Given the description of an element on the screen output the (x, y) to click on. 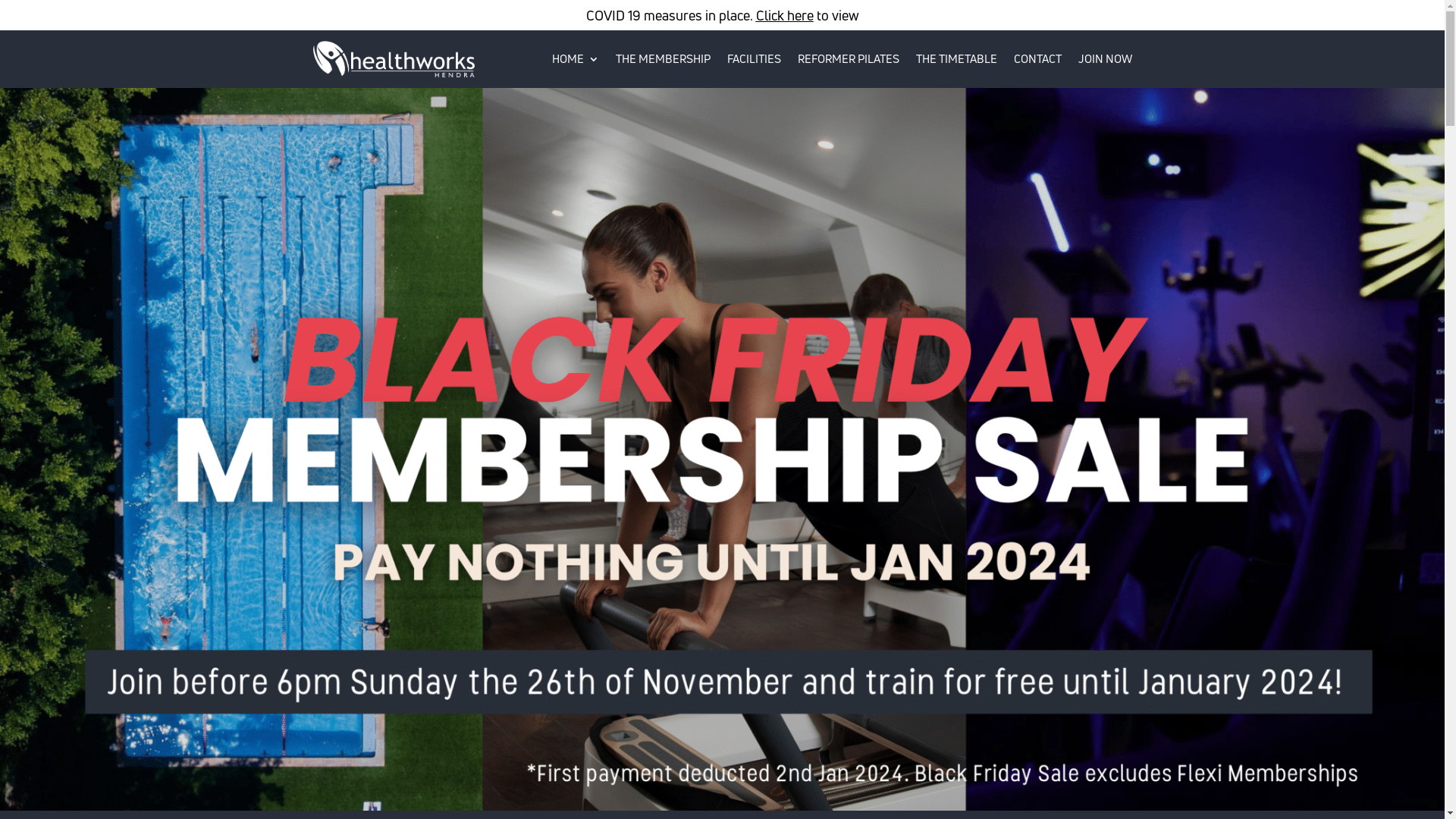
REFORMER PILATES Element type: text (848, 58)
CONTACT Element type: text (1036, 58)
JOIN NOW Element type: text (1105, 58)
HOME Element type: text (575, 58)
BLACK FRIDAY (website banner) Element type: hover (722, 448)
THE TIMETABLE Element type: text (956, 58)
FACILITIES Element type: text (753, 58)
Click here Element type: text (783, 15)
THE MEMBERSHIP Element type: text (662, 58)
